Given the description of an element on the screen output the (x, y) to click on. 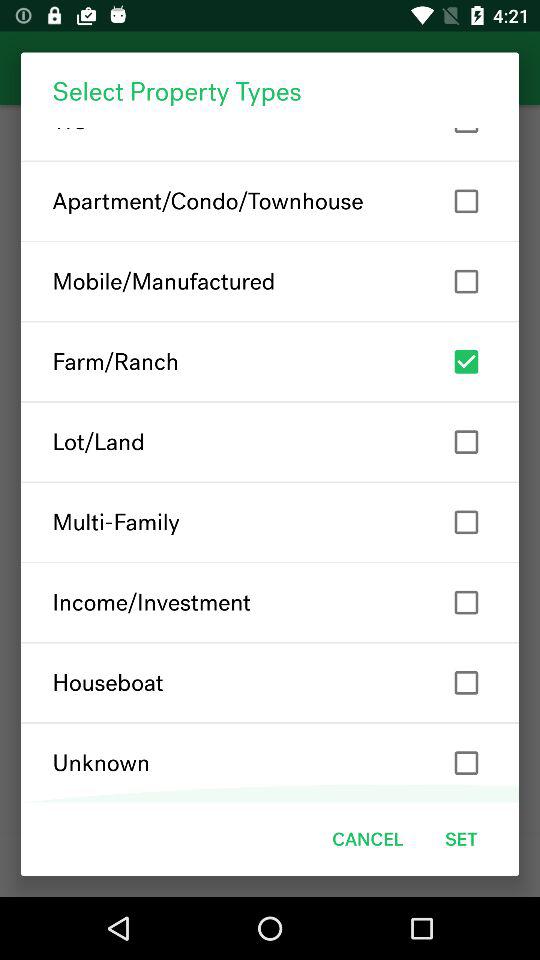
turn off apartment/condo/townhouse (270, 201)
